Given the description of an element on the screen output the (x, y) to click on. 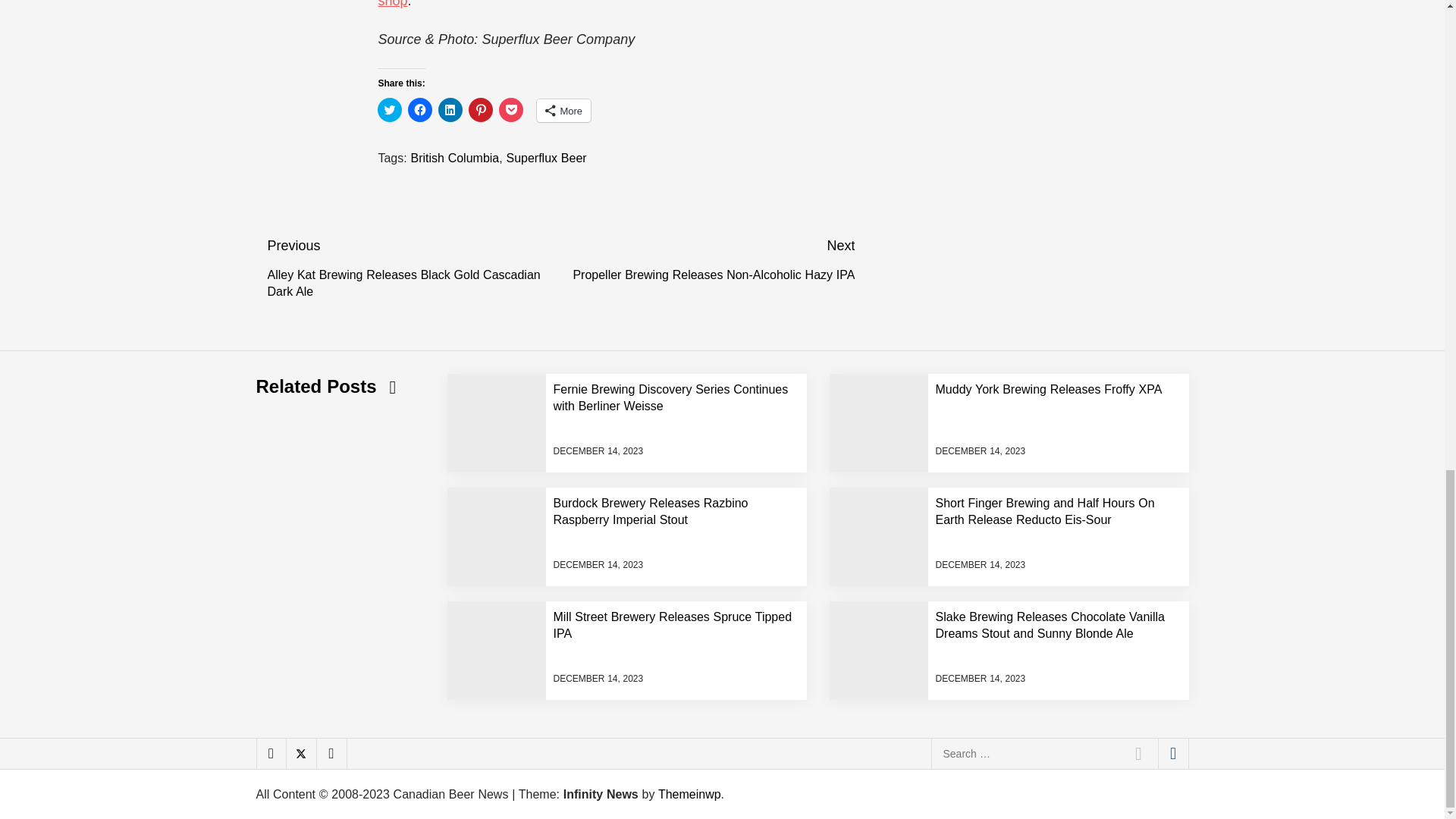
Click to share on Facebook (419, 109)
Click to share on LinkedIn (450, 109)
Superflux Beer (545, 157)
Search (1138, 753)
More (564, 110)
Search (1138, 753)
Click to share on Pinterest (480, 109)
British Columbia (454, 157)
Click to share on Pocket (510, 109)
